Given the description of an element on the screen output the (x, y) to click on. 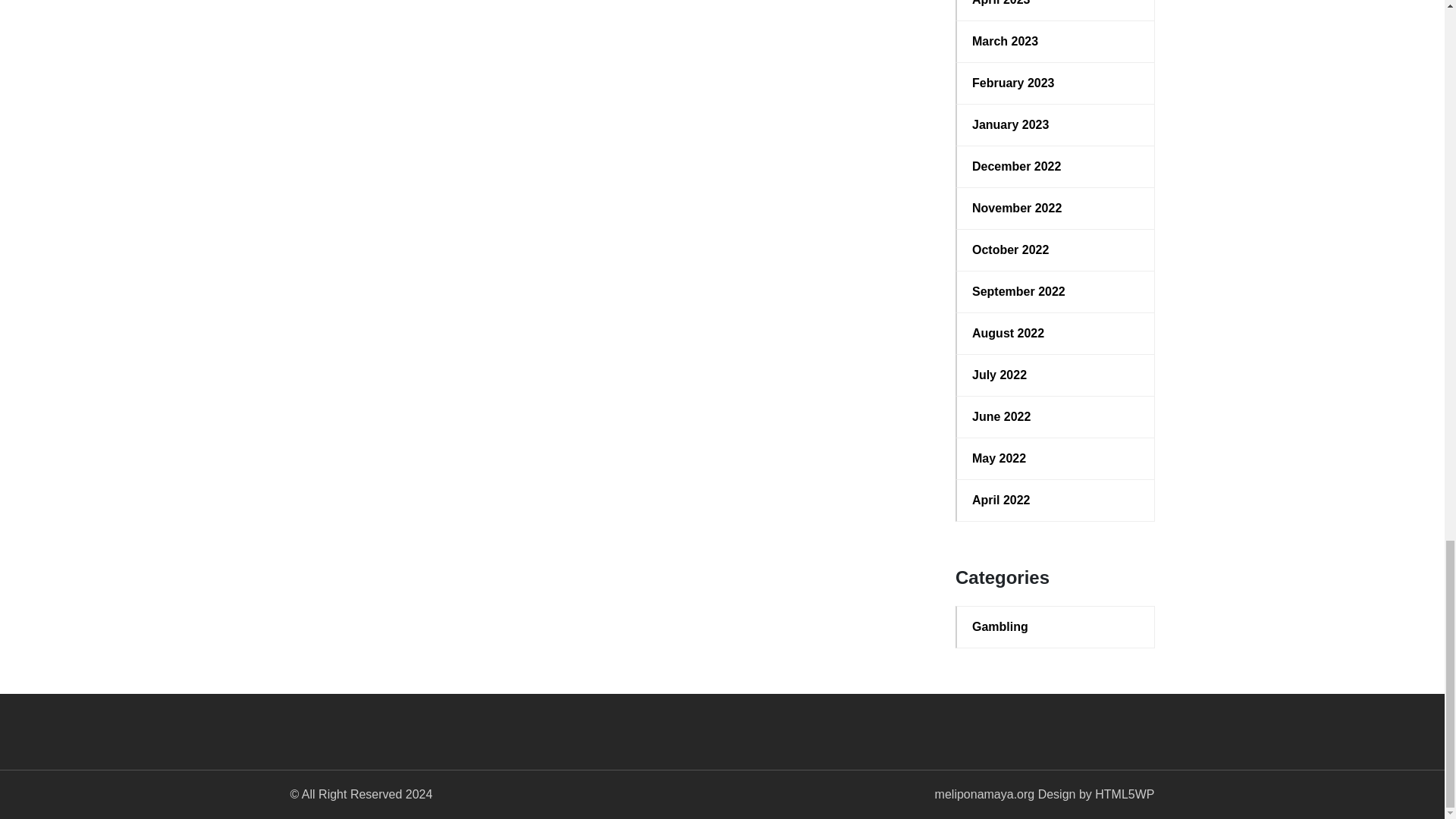
November 2022 (1055, 208)
September 2022 (1055, 291)
October 2022 (1055, 249)
January 2023 (1055, 125)
June 2022 (1055, 416)
February 2023 (1055, 83)
December 2022 (1055, 167)
August 2022 (1055, 333)
July 2022 (1055, 375)
April 2023 (1055, 4)
